Given the description of an element on the screen output the (x, y) to click on. 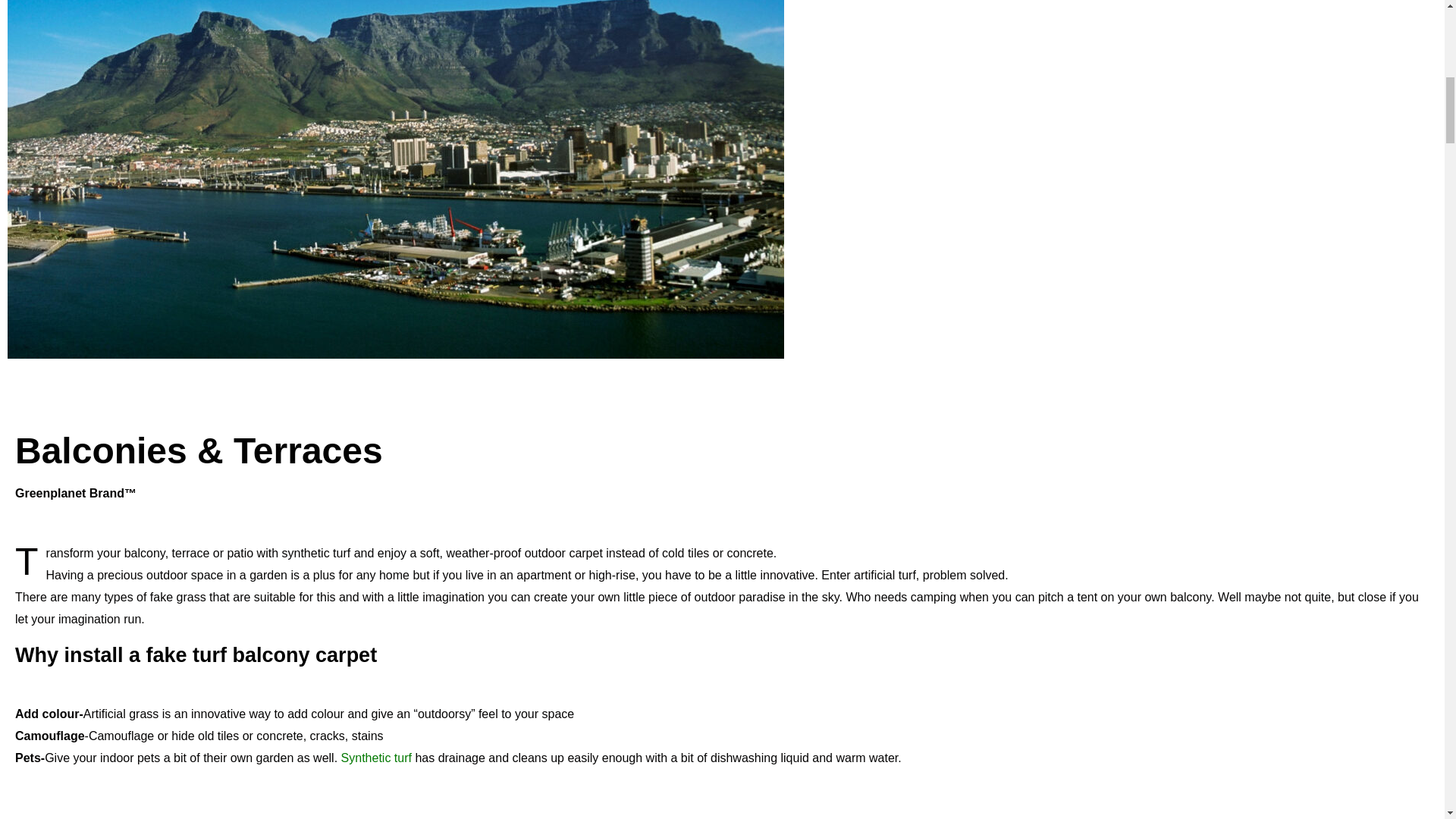
Synthetic turf (376, 757)
